Given the description of an element on the screen output the (x, y) to click on. 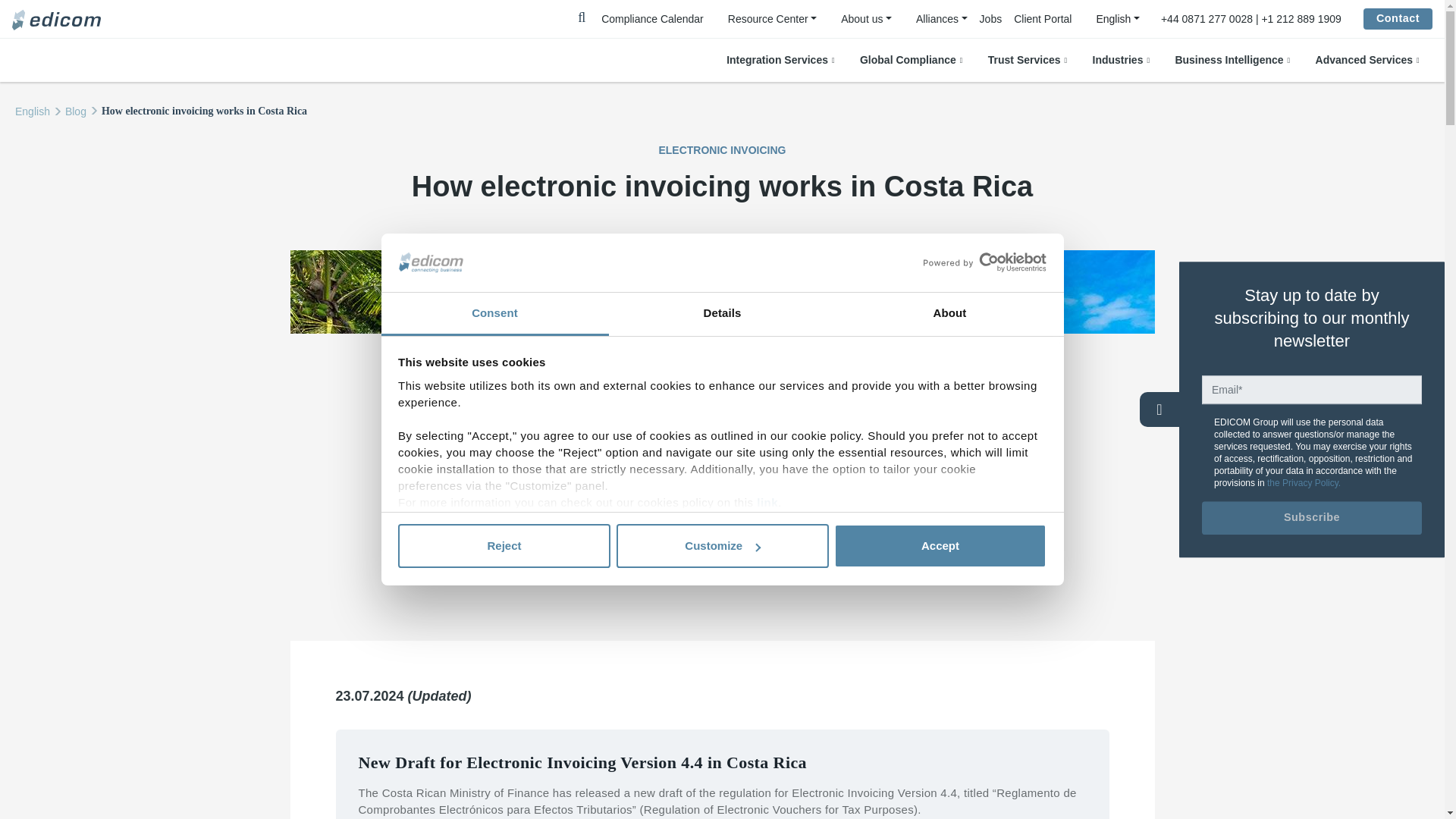
About (948, 313)
Reject (503, 546)
Consent (494, 313)
link (767, 502)
Details (721, 313)
